Given the description of an element on the screen output the (x, y) to click on. 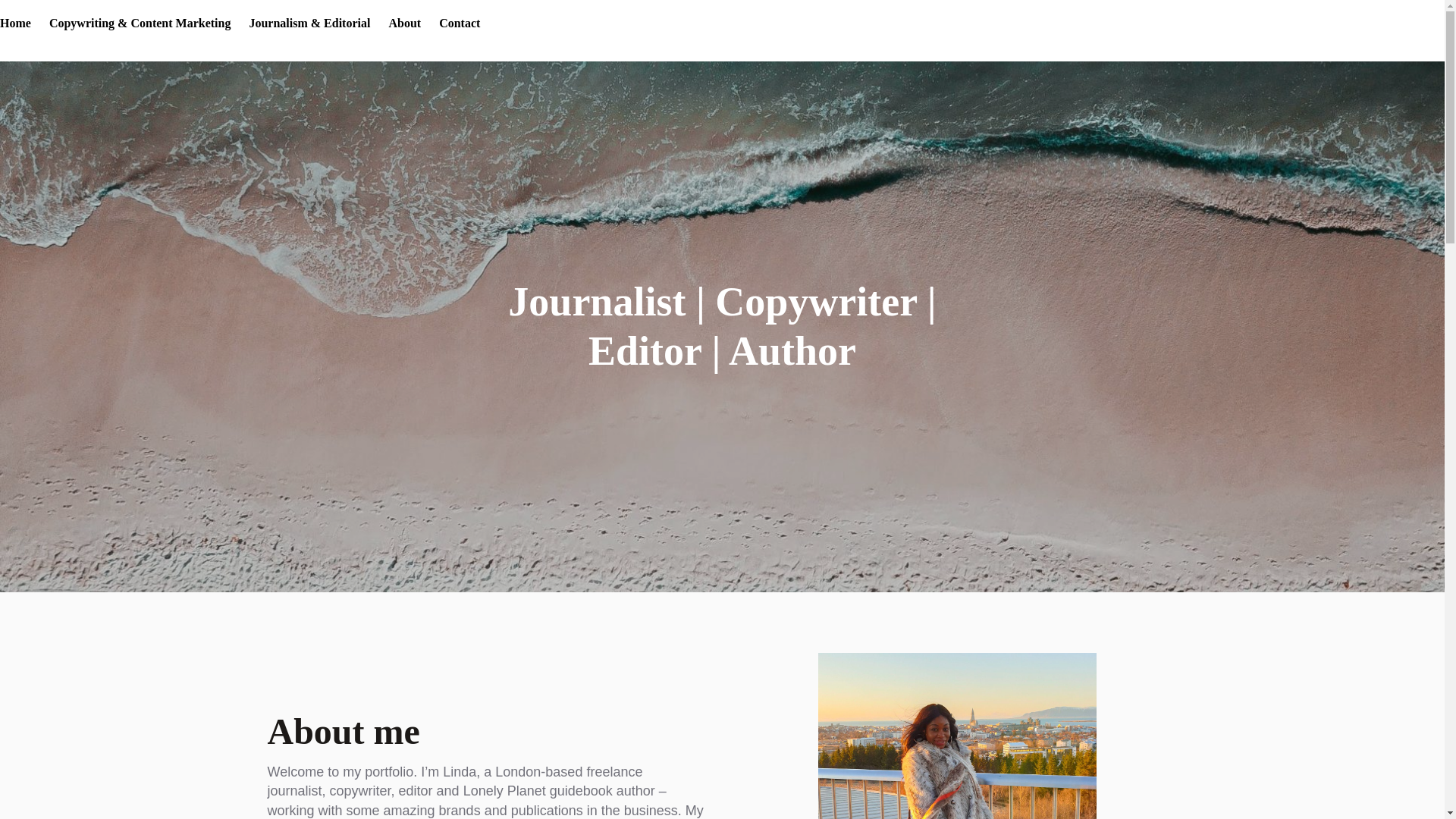
About (404, 23)
Contact (459, 23)
Home (15, 23)
